Given the description of an element on the screen output the (x, y) to click on. 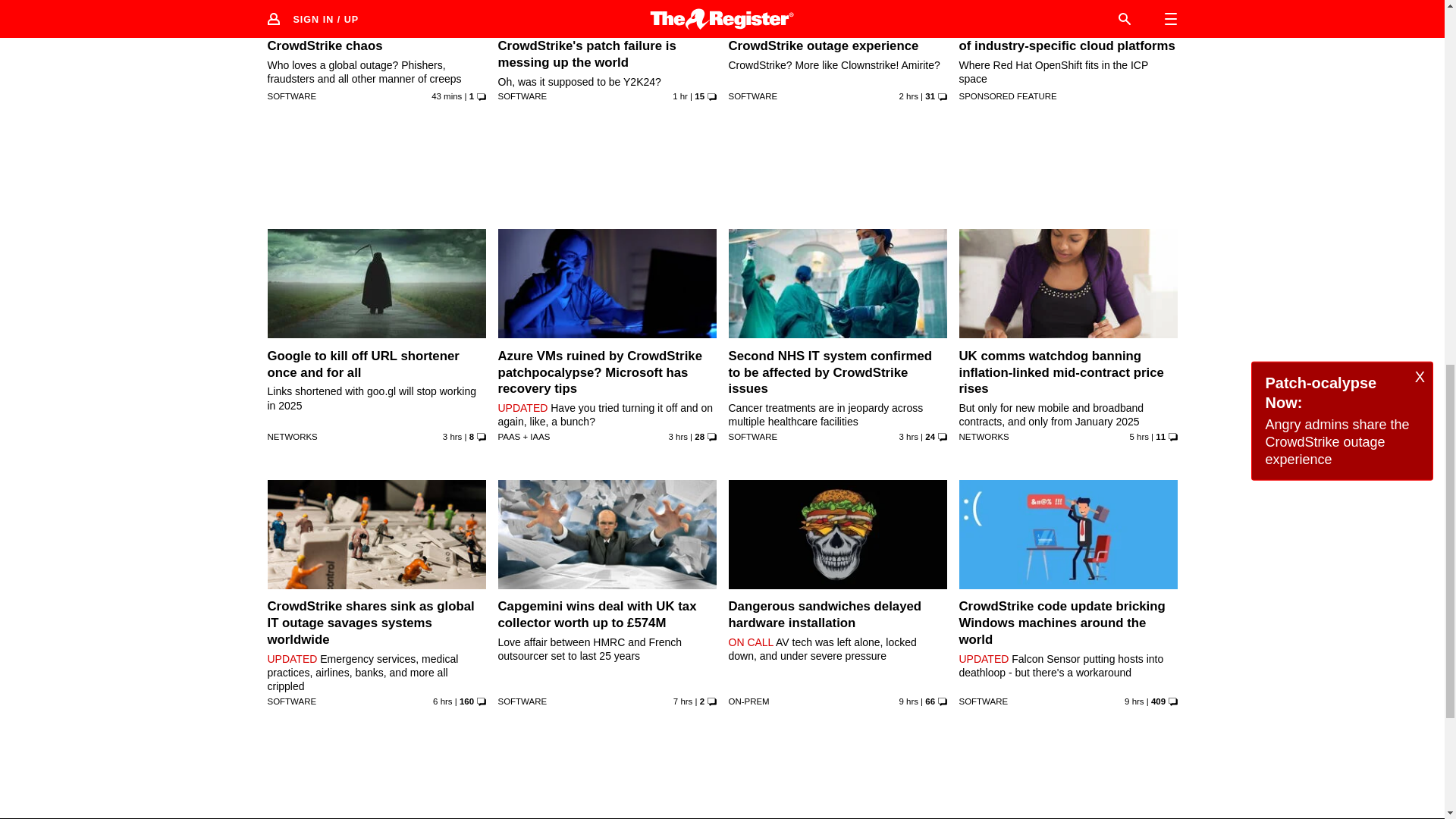
19 Jul 2024 14:1 (908, 95)
19 Jul 2024 12:43 (908, 436)
19 Jul 2024 9:53 (442, 700)
19 Jul 2024 15:22 (445, 95)
19 Jul 2024 11:22 (1138, 436)
19 Jul 2024 13:29 (452, 436)
19 Jul 2024 8:43 (682, 700)
19 Jul 2024 12:47 (677, 436)
19 Jul 2024 7:29 (908, 700)
19 Jul 2024 6:46 (1134, 700)
19 Jul 2024 14:58 (679, 95)
